Given the description of an element on the screen output the (x, y) to click on. 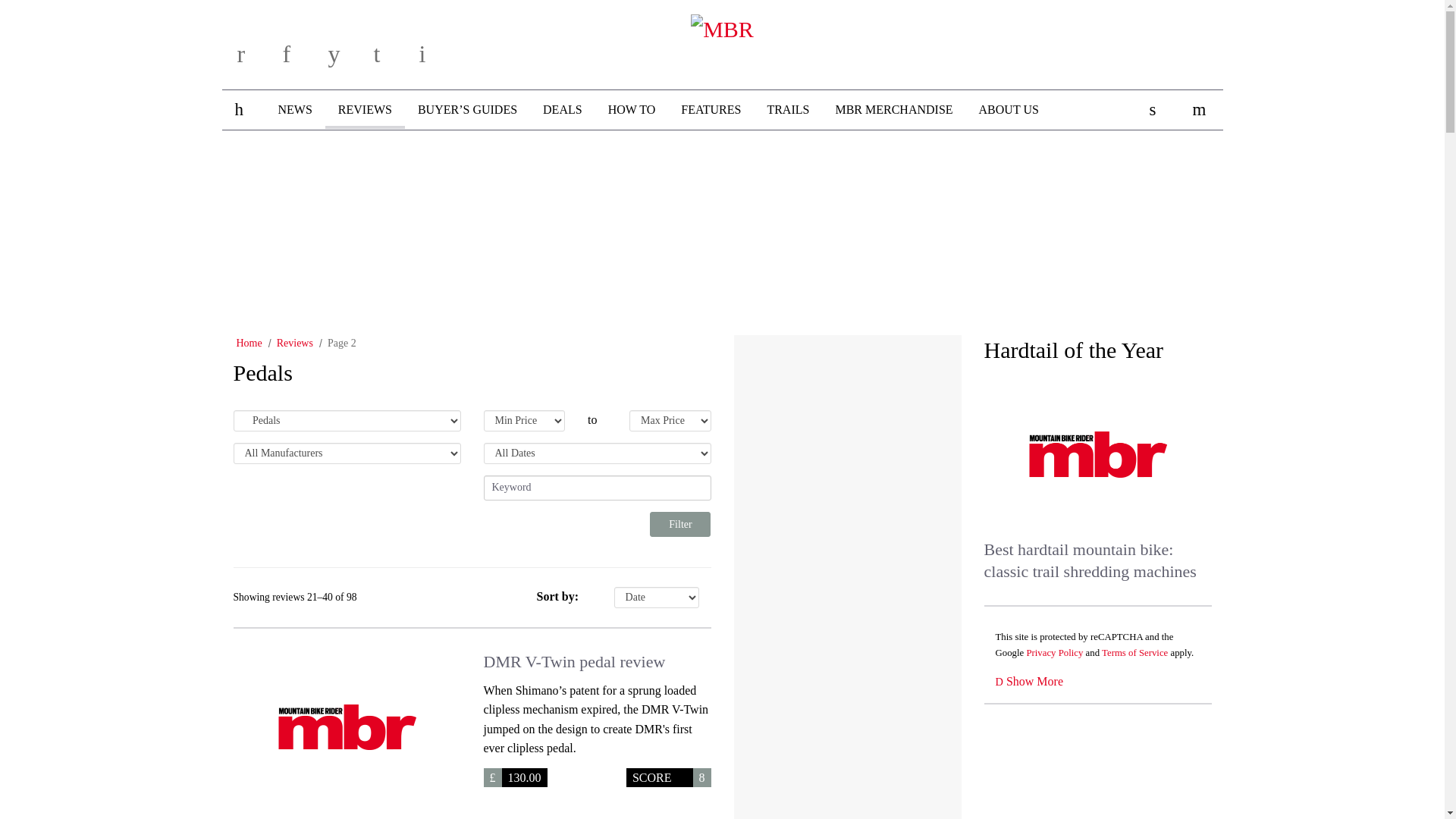
r (254, 59)
DEALS (562, 109)
f (300, 59)
Home (248, 342)
FEATURES (711, 109)
NEWS (294, 109)
Filter (679, 524)
y (345, 59)
MBR MERCHANDISE (893, 109)
HOW TO (631, 109)
